Given the description of an element on the screen output the (x, y) to click on. 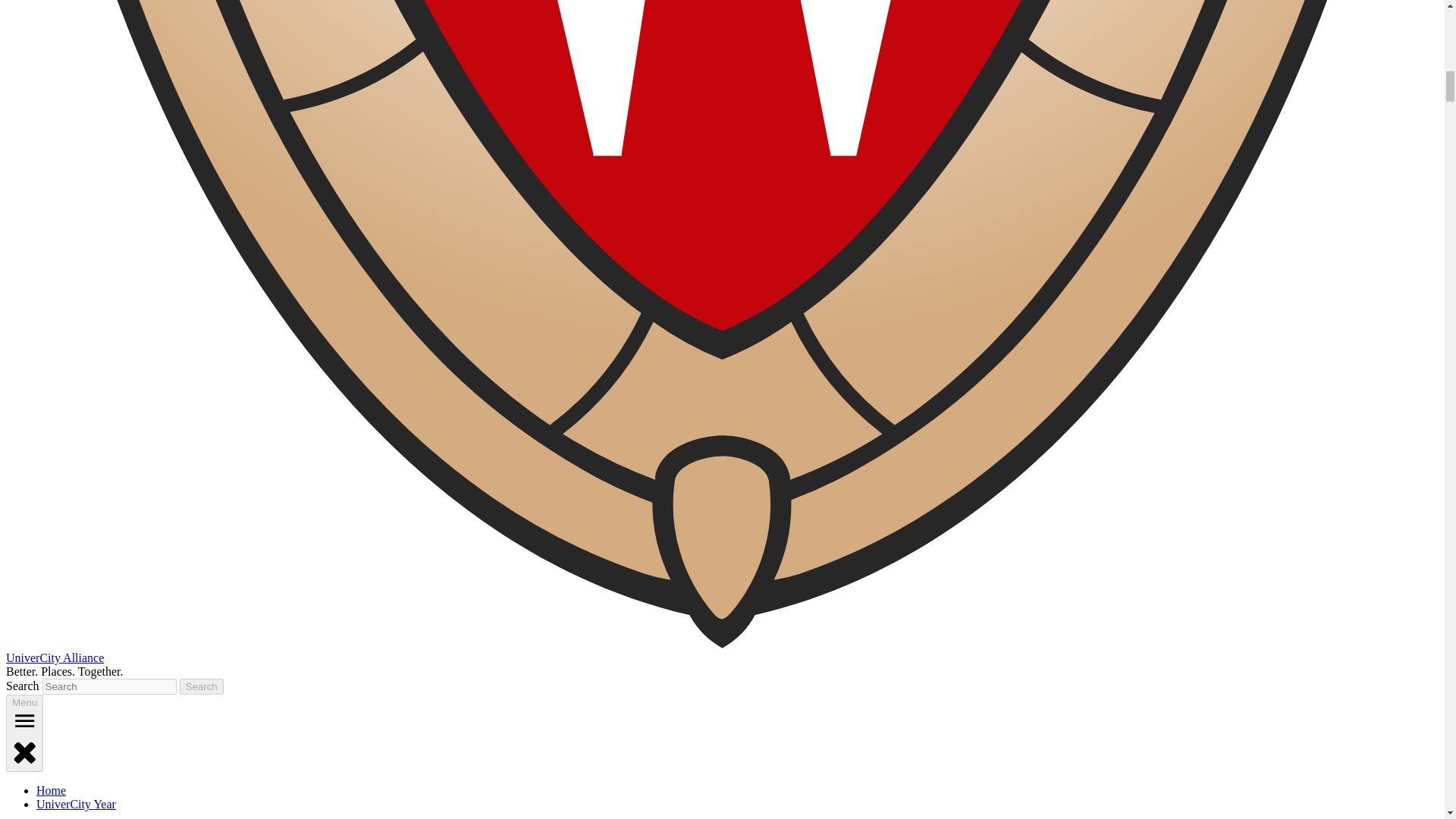
Search (201, 686)
UniverCity Alliance (54, 657)
Home (50, 789)
Search (201, 686)
open menu (24, 720)
Search (201, 686)
